Given the description of an element on the screen output the (x, y) to click on. 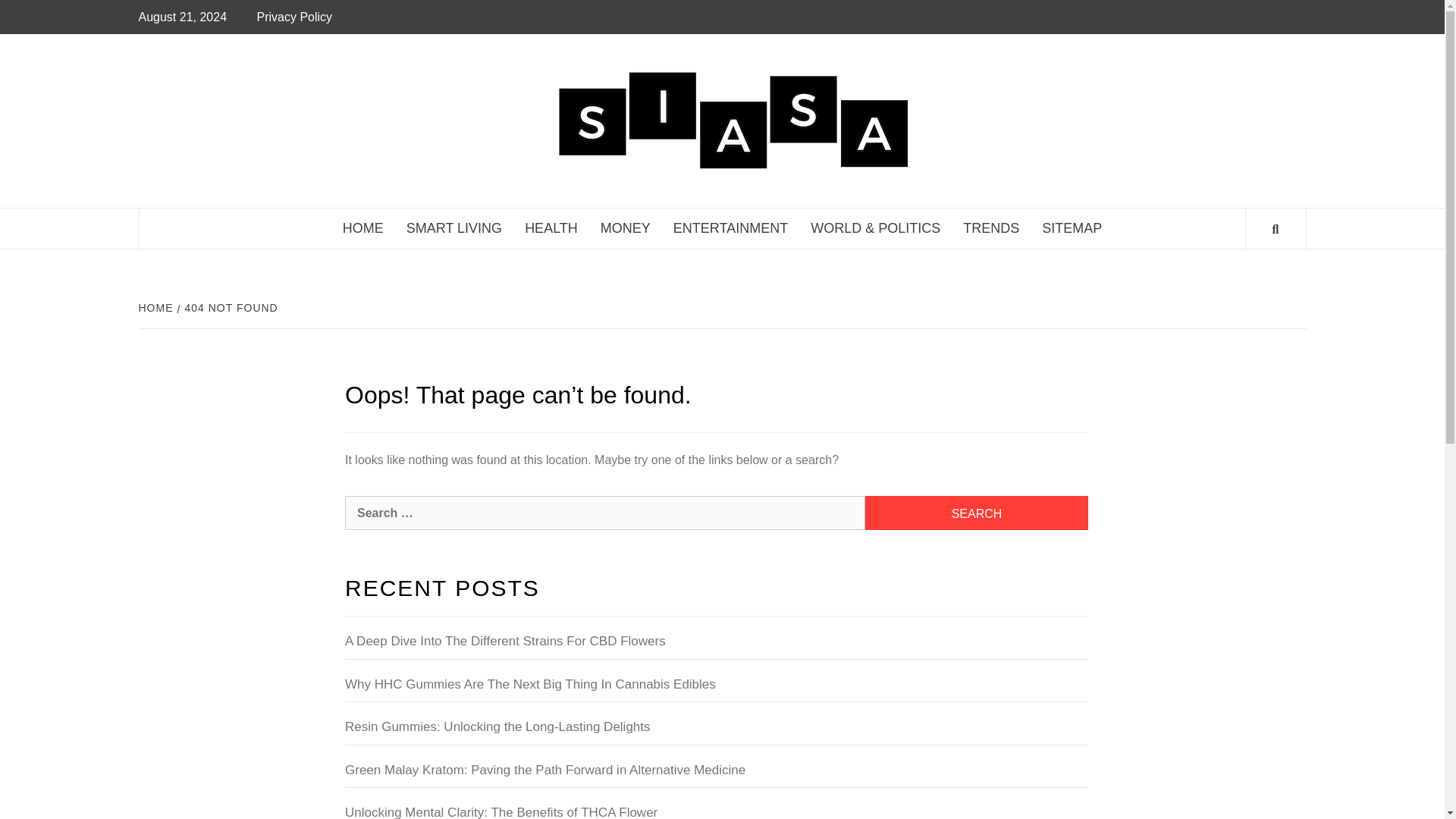
ENTERTAINMENT (730, 228)
Unlocking Mental Clarity: The Benefits of THCA Flower (716, 811)
MONEY (625, 228)
Search (975, 512)
Resin Gummies: Unlocking the Long-Lasting Delights (716, 731)
HEALTH (551, 228)
SAY IT AINT SO ALREADY (1114, 84)
SITEMAP (1071, 228)
404 NOT FOUND (229, 307)
HOME (362, 228)
